Given the description of an element on the screen output the (x, y) to click on. 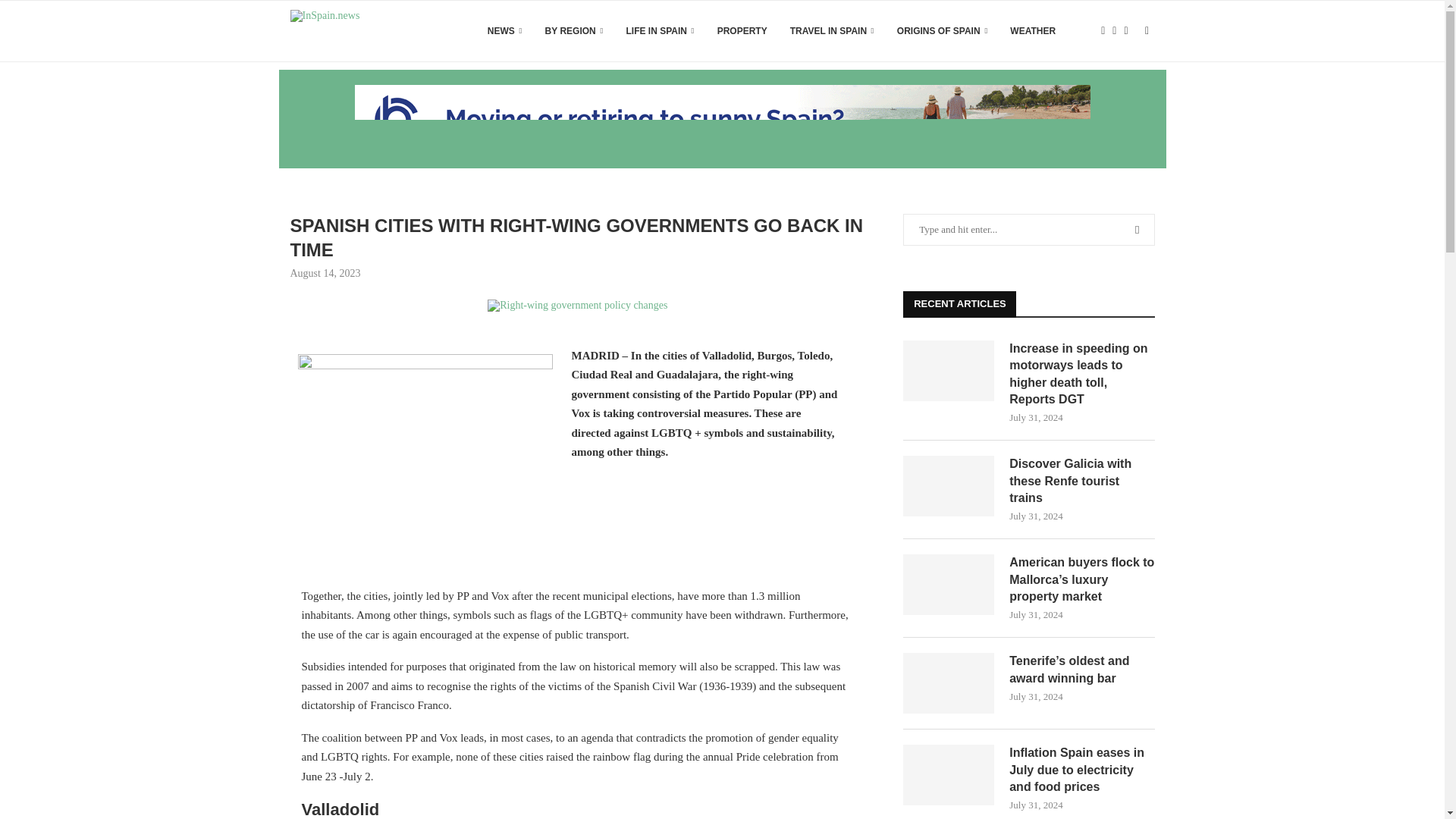
Discover Galicia with these Renfe tourist trains (1081, 480)
BY REGION (574, 30)
TRAVEL IN SPAIN (832, 30)
Discover Galicia with these Renfe tourist trains (948, 485)
LIFE IN SPAIN (660, 30)
ORIGINS OF SPAIN (942, 30)
BIKE LANE (576, 305)
